Given the description of an element on the screen output the (x, y) to click on. 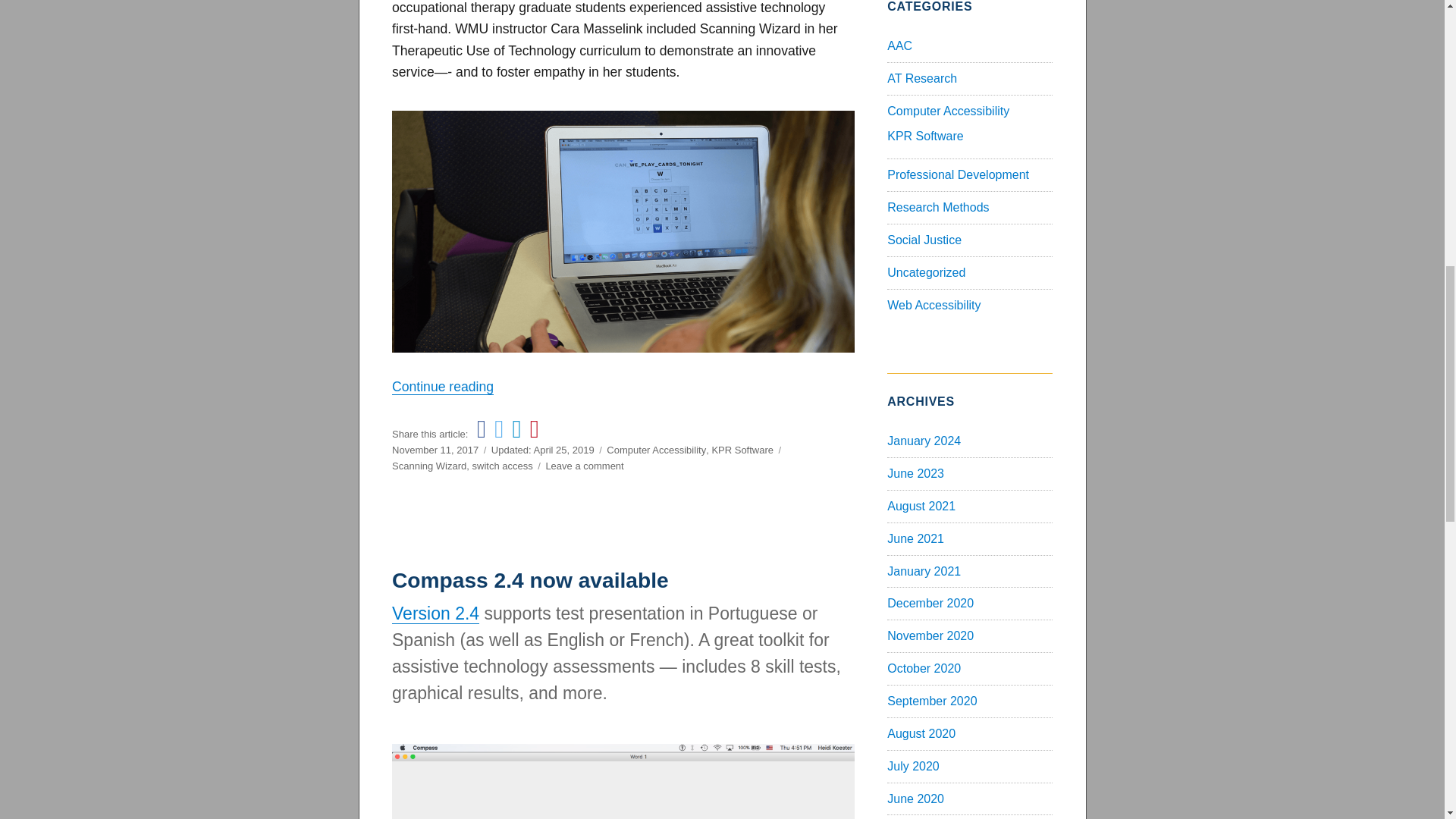
Computer Accessibility (656, 450)
November 11, 2017Updated: April 25, 2019 (492, 450)
switch access (501, 466)
Compass 2.4 now available (529, 580)
Scanning Wizard (428, 466)
Version 2.4 (583, 466)
KPR Software (435, 613)
